Given the description of an element on the screen output the (x, y) to click on. 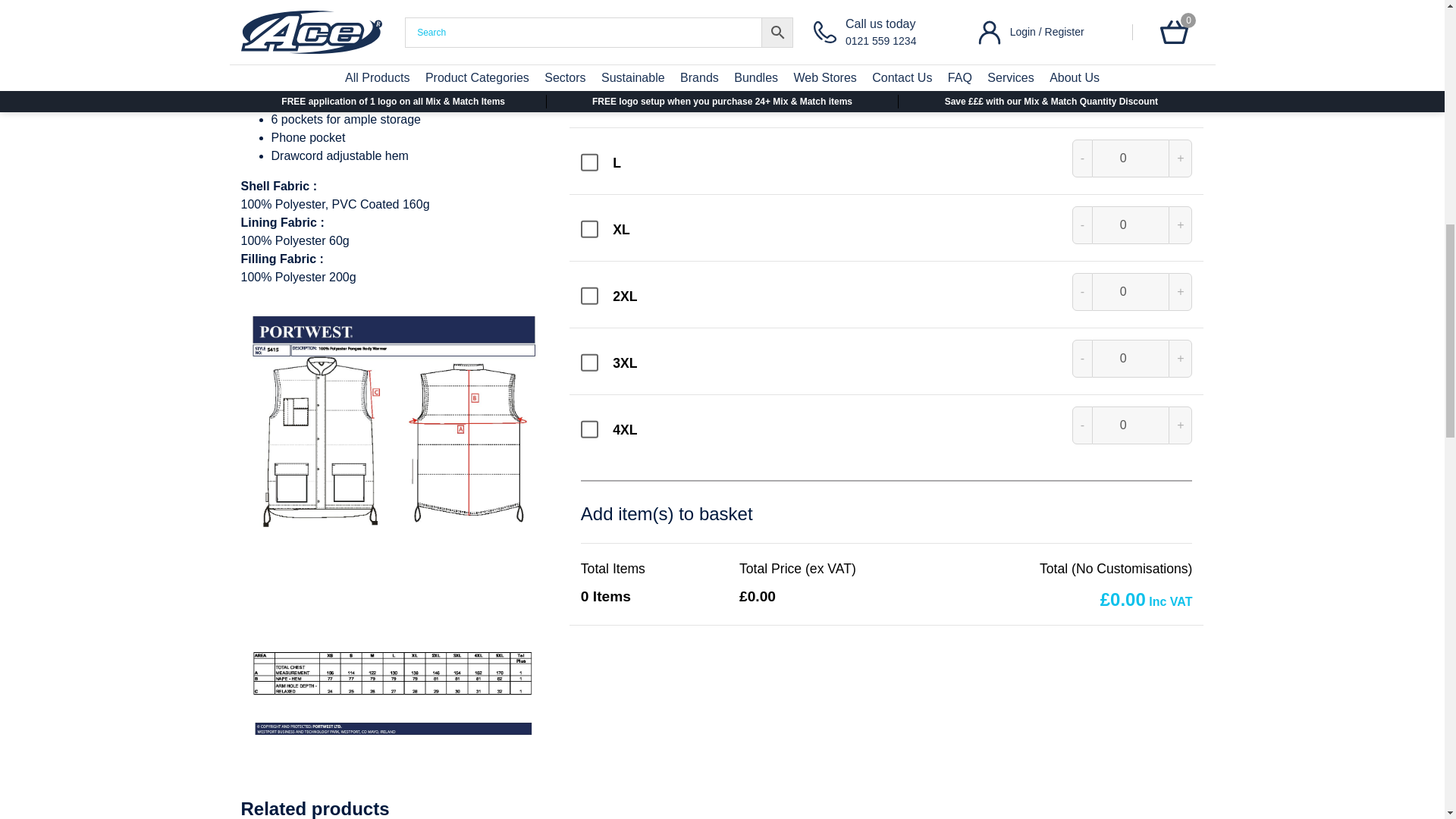
0 (1131, 158)
0 (1131, 225)
0 (1131, 358)
0 (1131, 91)
0 (1131, 425)
0 (1131, 24)
0 (1131, 291)
